Given the description of an element on the screen output the (x, y) to click on. 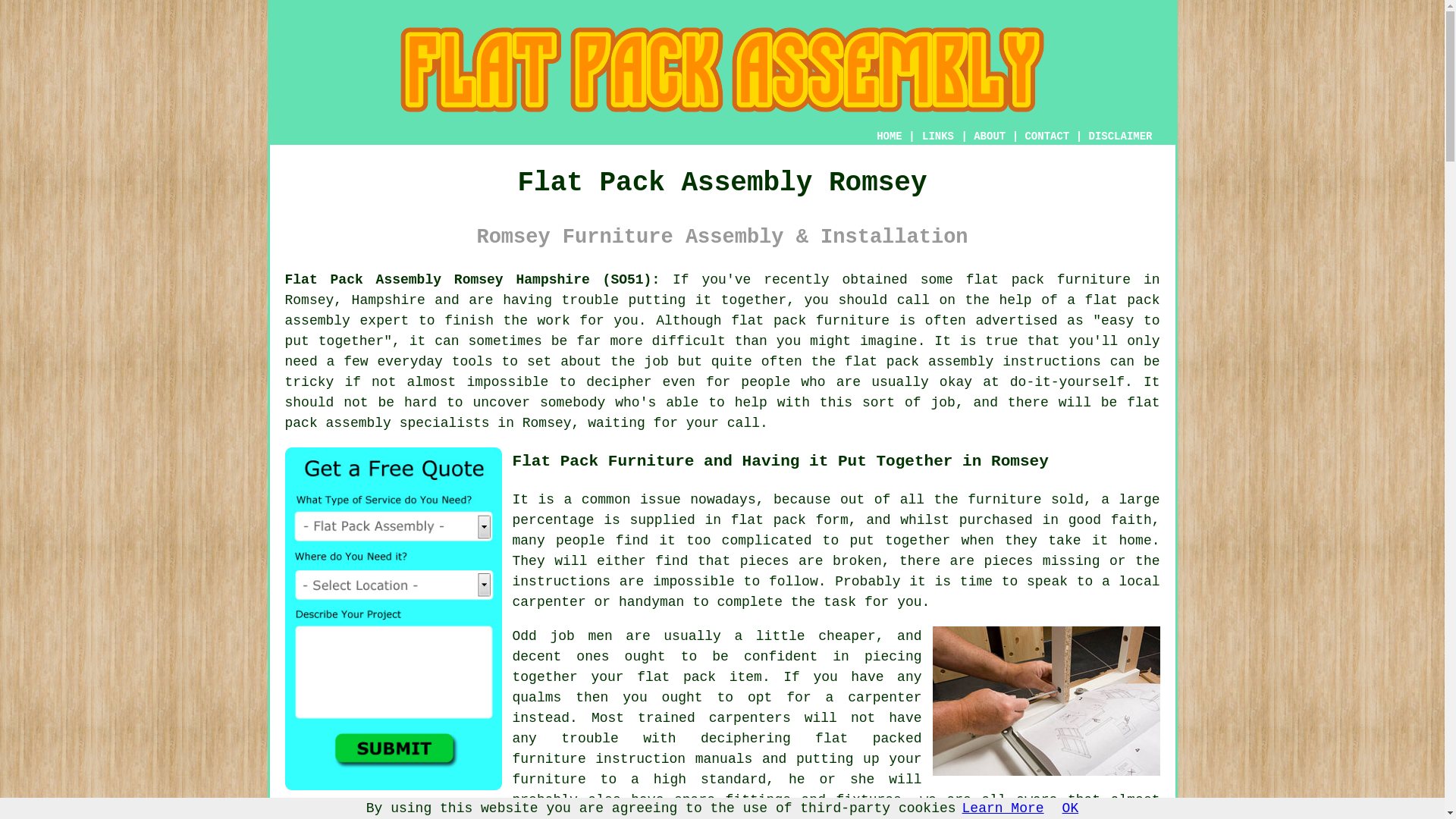
LINKS (938, 136)
flat pack assembly (722, 310)
furniture (510, 816)
the job (1130, 816)
Flat Pack Assembly Romsey (721, 69)
Flat Pack Assembly Romsey Hampshire (1046, 700)
flat pack furniture (1048, 279)
HOME (889, 136)
tools (472, 361)
flat pack furniture (809, 320)
